Given the description of an element on the screen output the (x, y) to click on. 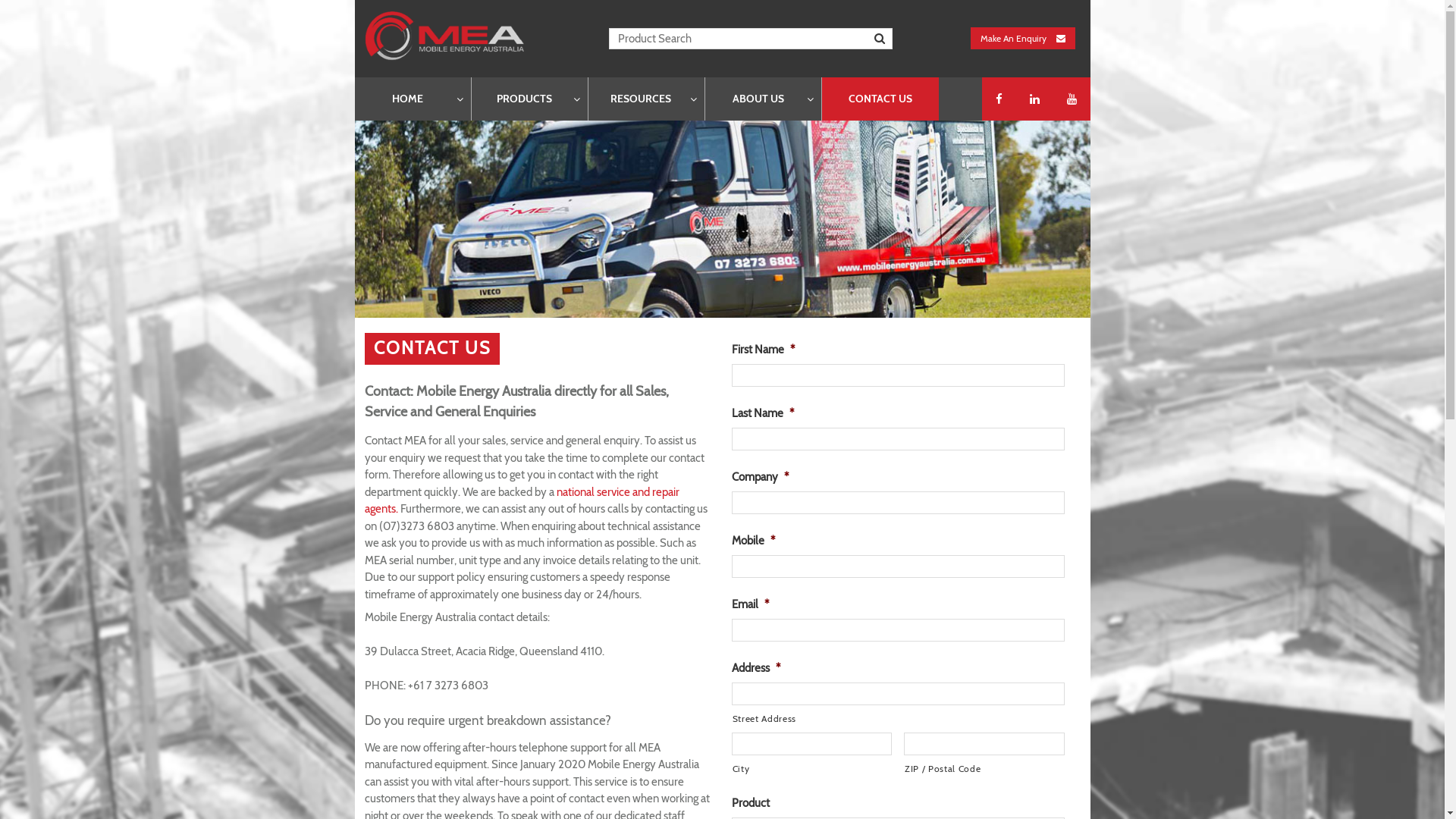
Make An Enquiry Element type: text (1022, 38)
HOME Element type: text (412, 98)
CONTACT US Element type: text (880, 98)
RESOURCES Element type: text (646, 98)
national service and repair agents. Element type: text (521, 500)
PRODUCTS Element type: text (529, 98)
ABOUT US Element type: text (763, 98)
